Given the description of an element on the screen output the (x, y) to click on. 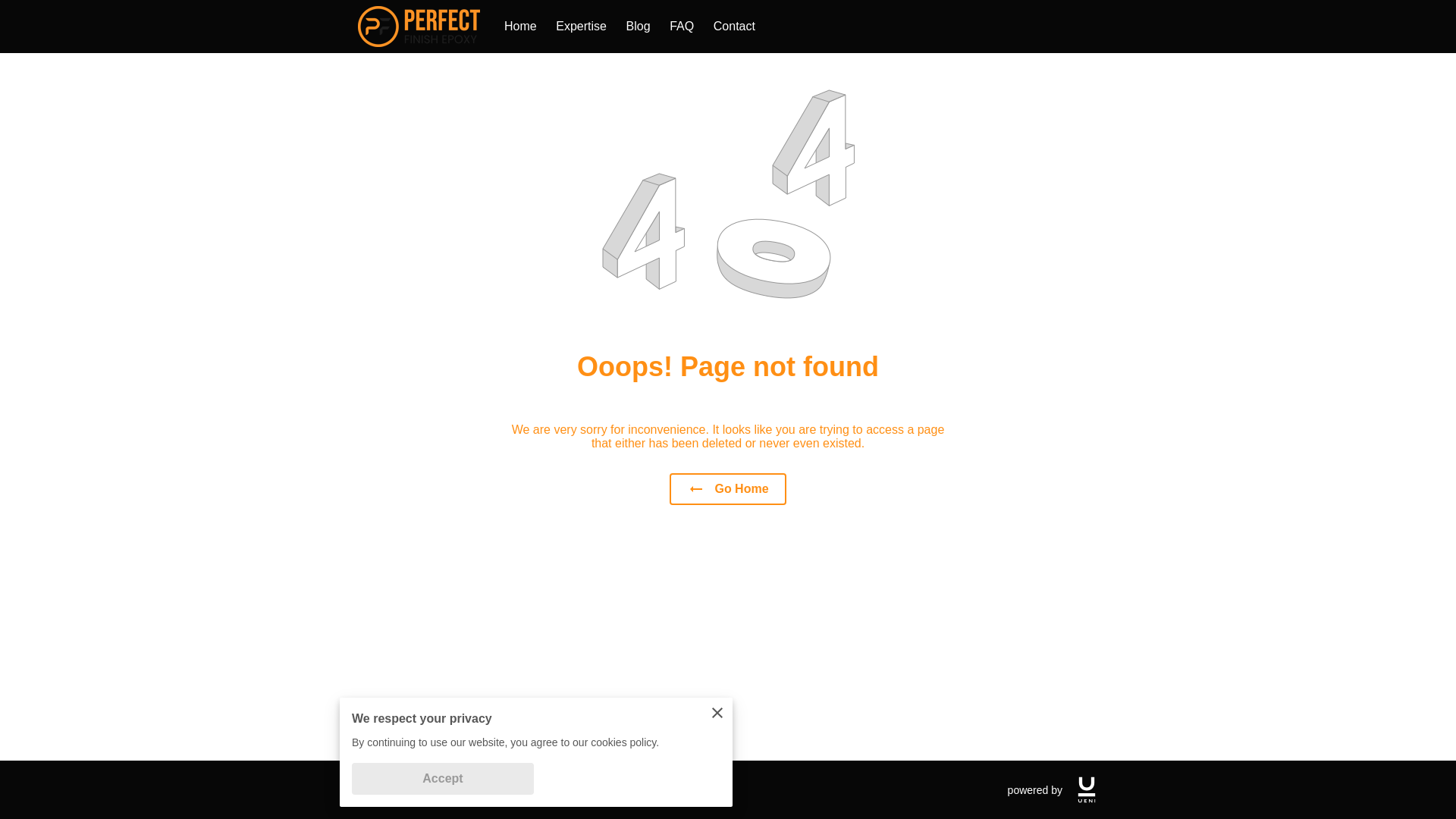
Blog (638, 26)
Home (520, 26)
Expertise (581, 26)
Legal Notice (504, 789)
Accept (443, 778)
Merchant Policies (400, 789)
Go Home (727, 489)
Contact (734, 26)
FAQ (681, 26)
